Given the description of an element on the screen output the (x, y) to click on. 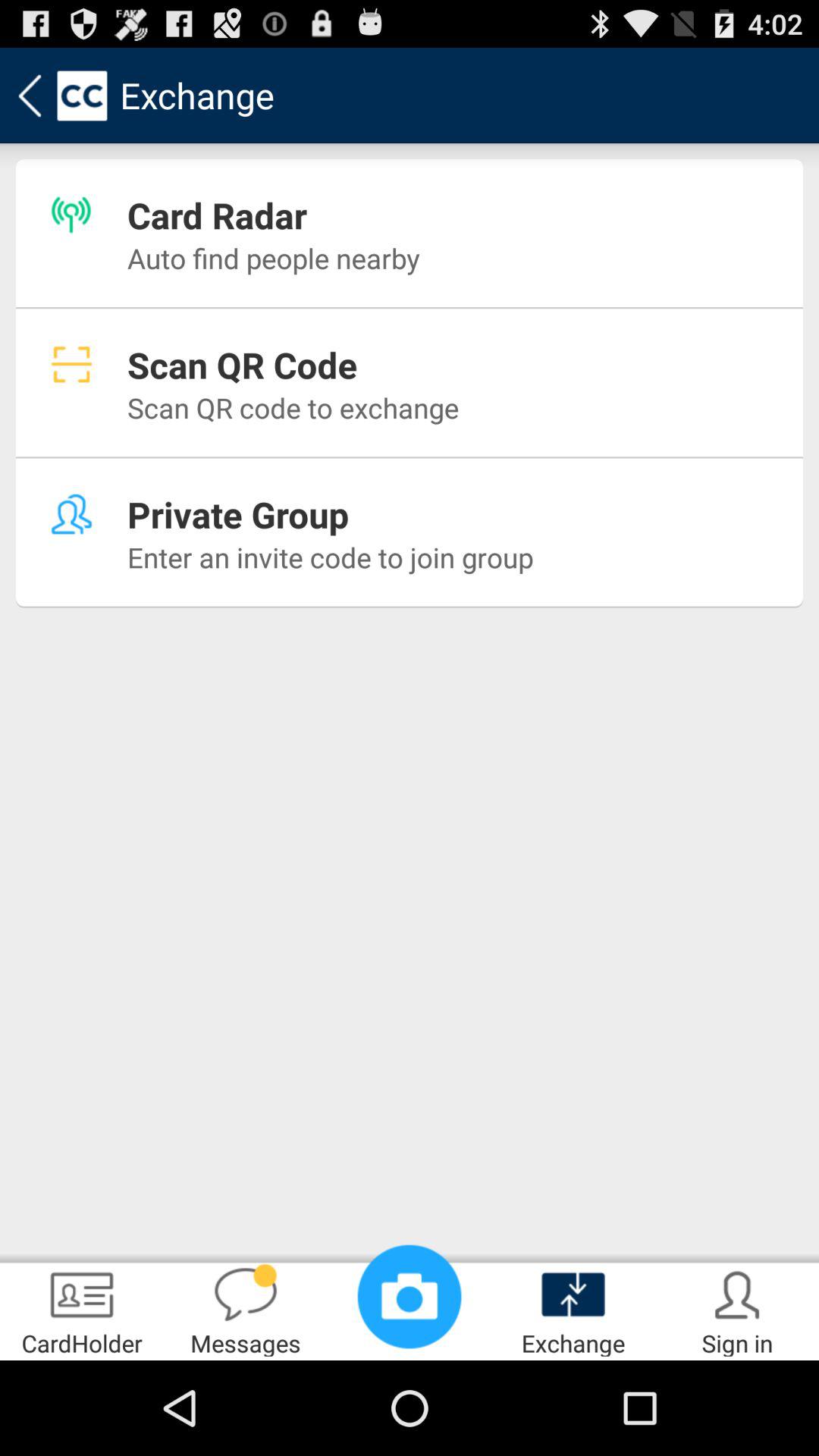
scroll to sign in icon (737, 1309)
